Given the description of an element on the screen output the (x, y) to click on. 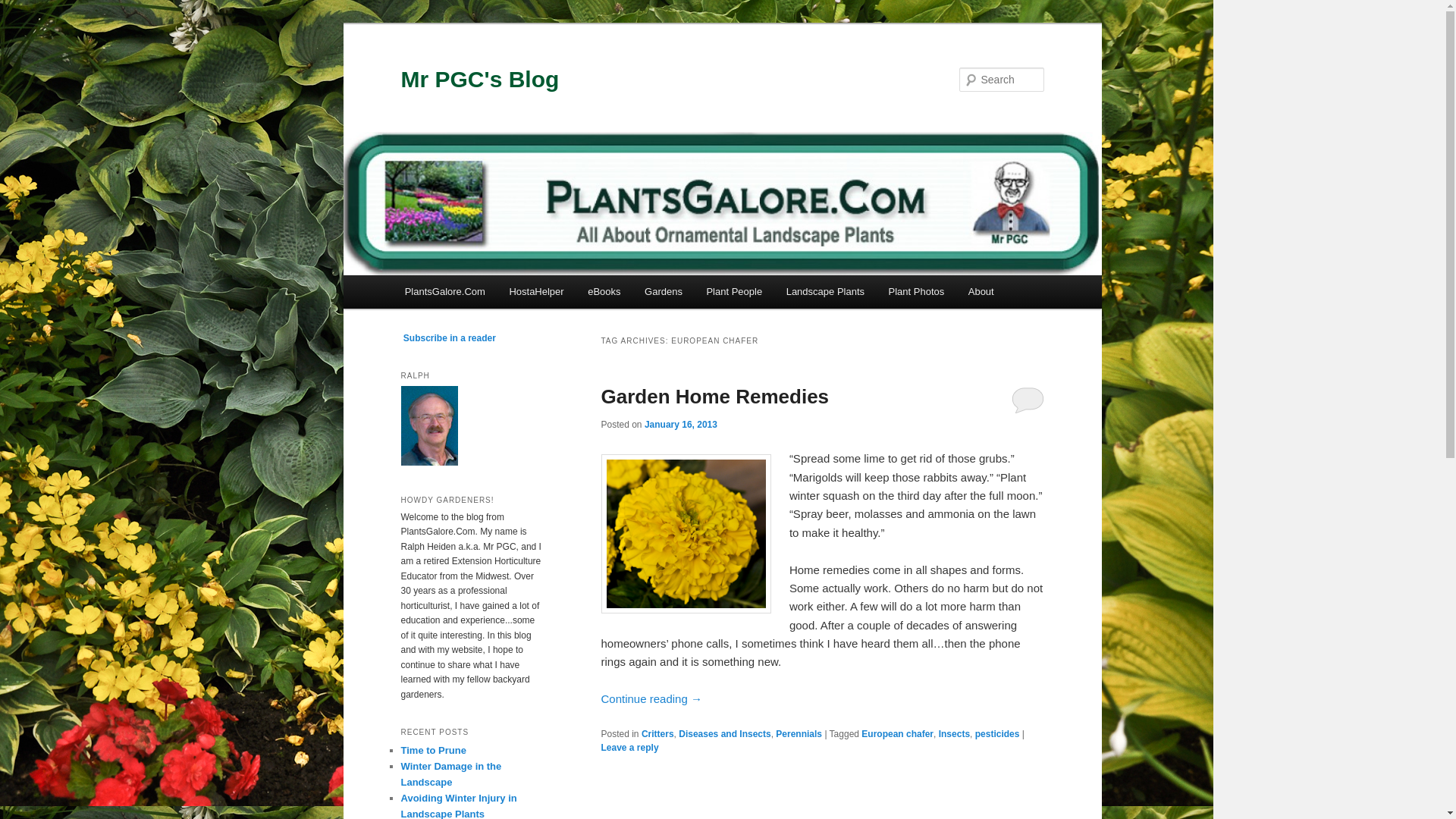
Perennials (799, 733)
Comment on Garden Home Remedies (1027, 399)
Plant Photos (916, 291)
Leave a reply (628, 747)
Diseases and Insects (724, 733)
Comment on Garden Home Remedies (628, 747)
Mr PGC's Blog (479, 78)
Mr PGC's Blog (479, 78)
View all posts in Diseases and Insects (724, 733)
Critters (658, 733)
Skip to secondary content (479, 293)
Winter Damage in the Landscape (450, 773)
Insects (954, 733)
Avoiding Winter Injury in Landscape Plants (458, 805)
eBooks (603, 291)
